Given the description of an element on the screen output the (x, y) to click on. 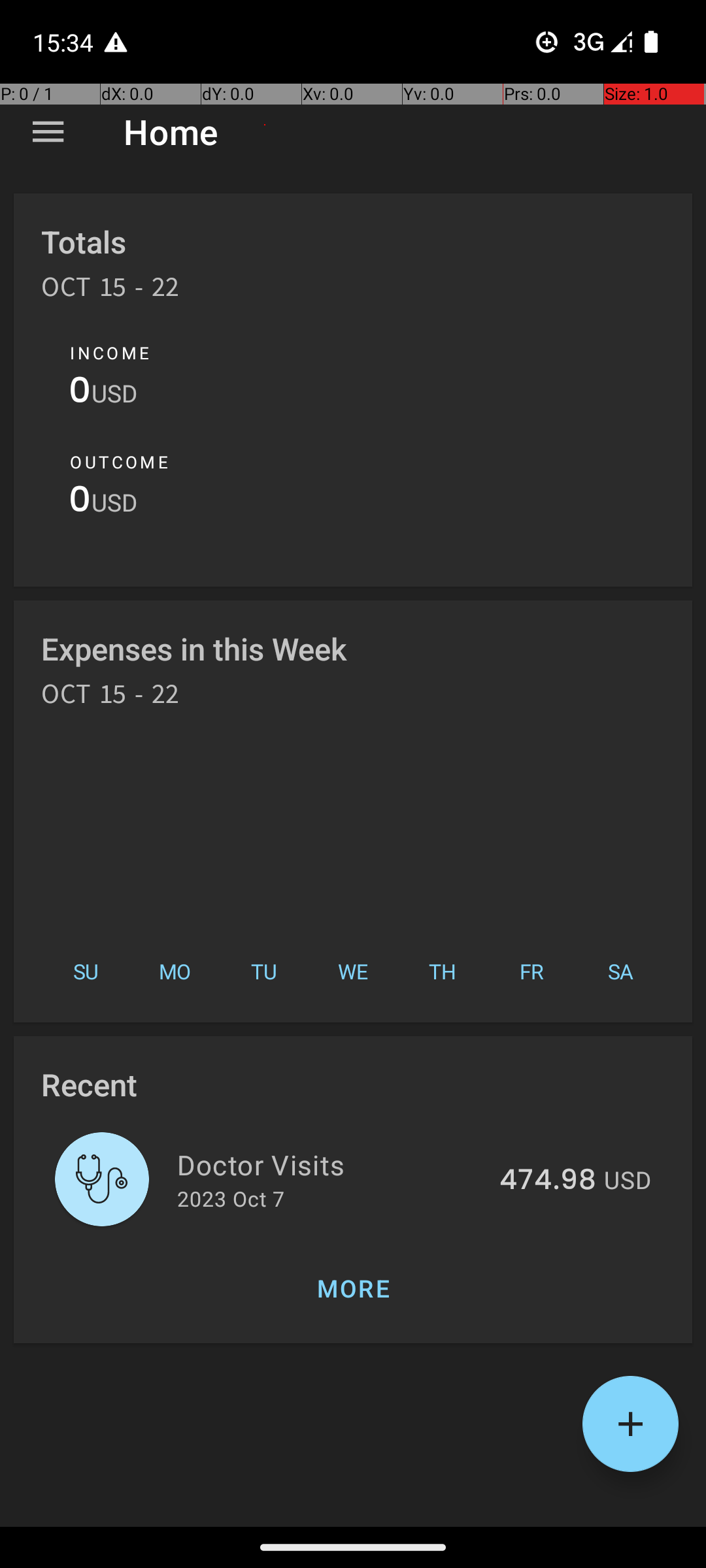
MORE Element type: android.widget.Button (352, 1288)
Doctor Visits Element type: android.widget.TextView (330, 1164)
2023 Oct 7 Element type: android.widget.TextView (230, 1198)
474.98 Element type: android.widget.TextView (547, 1180)
